Given the description of an element on the screen output the (x, y) to click on. 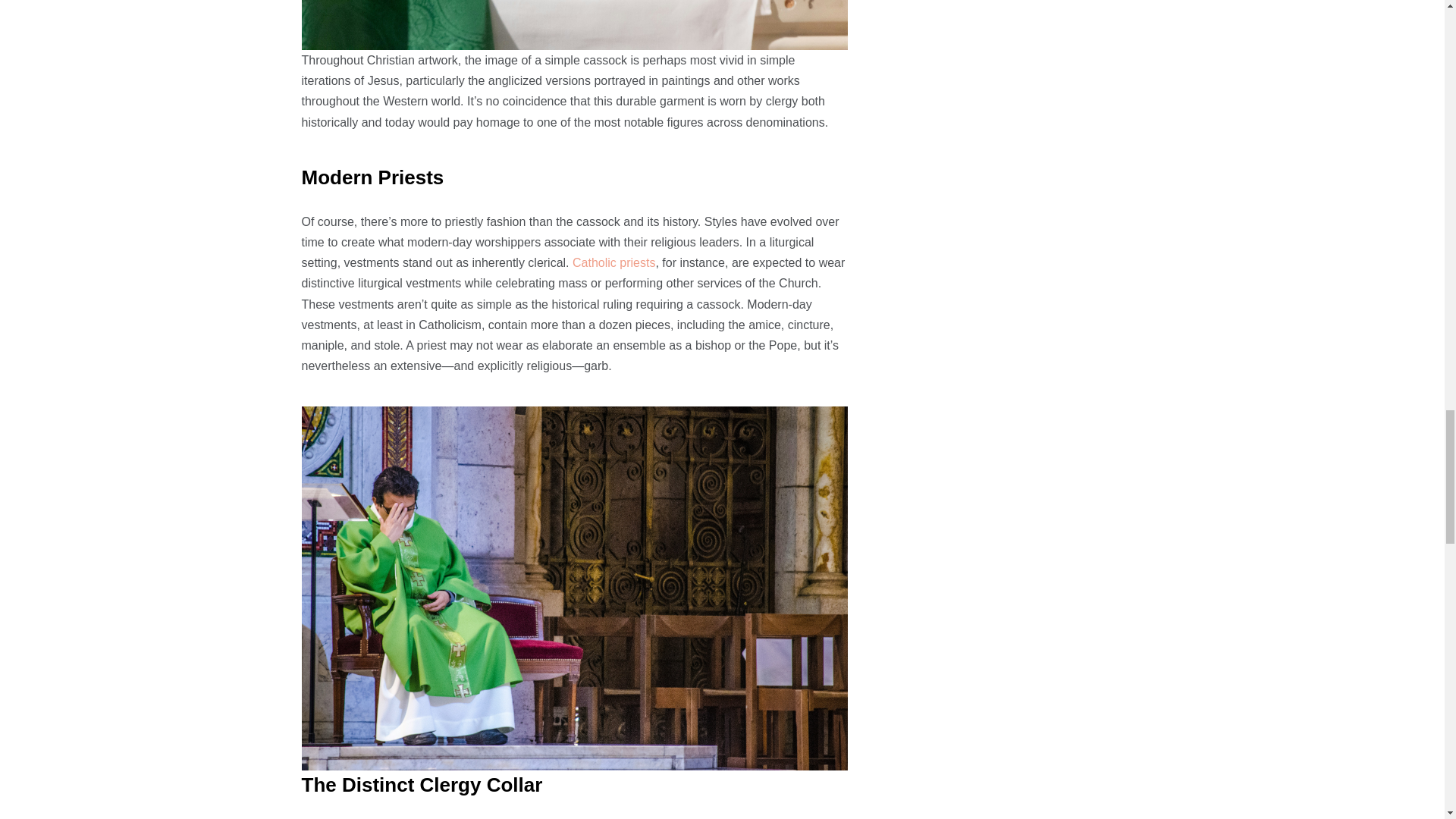
Catholic priests (613, 262)
